Given the description of an element on the screen output the (x, y) to click on. 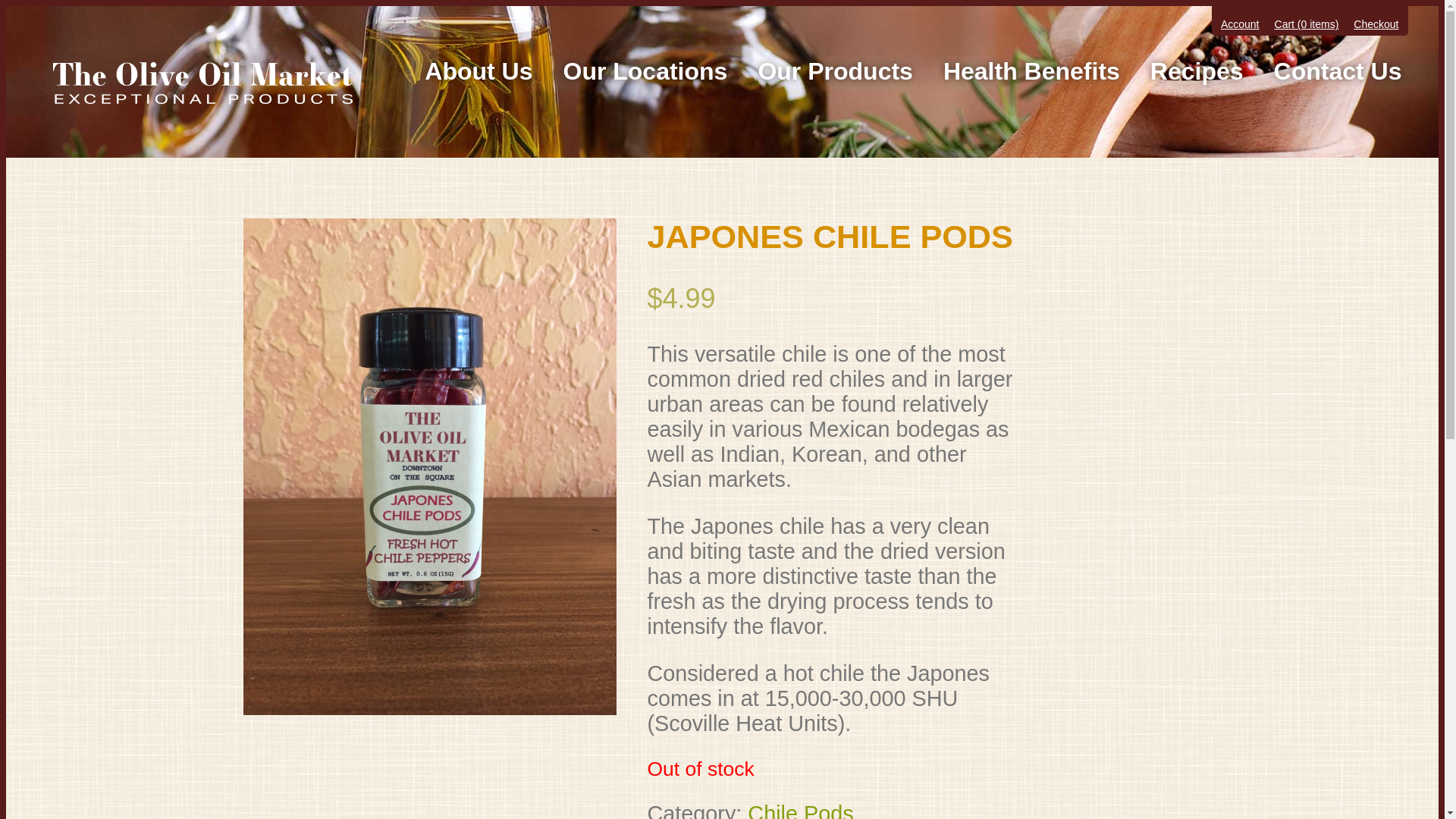
Our Products (834, 70)
Checkout (1375, 24)
About Us (478, 70)
Account (1240, 24)
Our Locations (644, 70)
View your shopping cart (1307, 24)
Recipes (1196, 70)
Chile Pods (800, 810)
Health Benefits (1031, 70)
Contact Us (1337, 70)
